Given the description of an element on the screen output the (x, y) to click on. 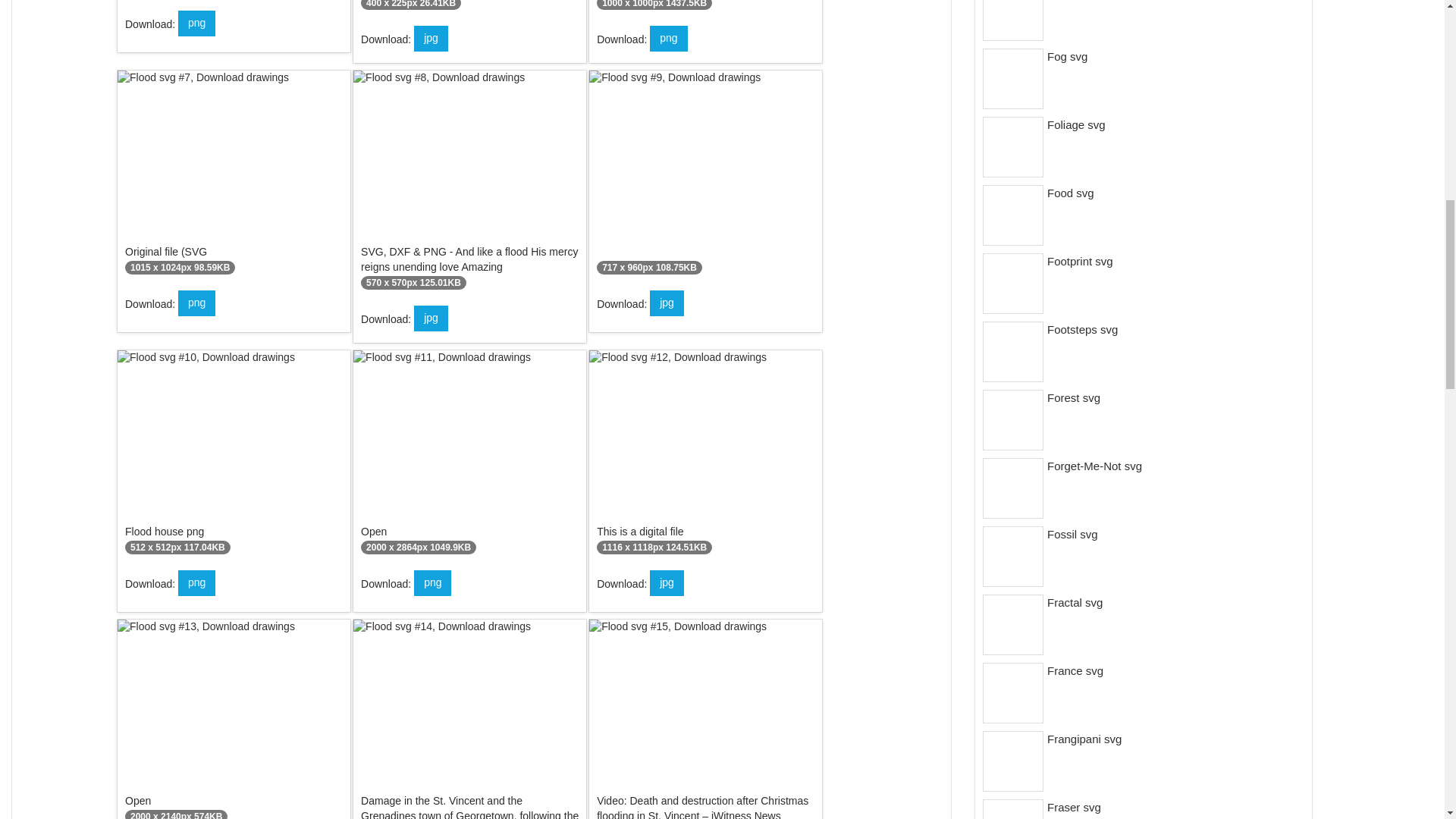
Warning svg flood (469, 9)
Download image (430, 38)
Download image (668, 38)
K wikipedia file (233, 1)
White controlled flood (705, 9)
Reigns dxf mercy (469, 184)
Original  khabarovsk (233, 176)
Download image (430, 318)
Download image (196, 23)
Download image (666, 303)
Today flooding vincent (705, 176)
Download image (196, 303)
